Given the description of an element on the screen output the (x, y) to click on. 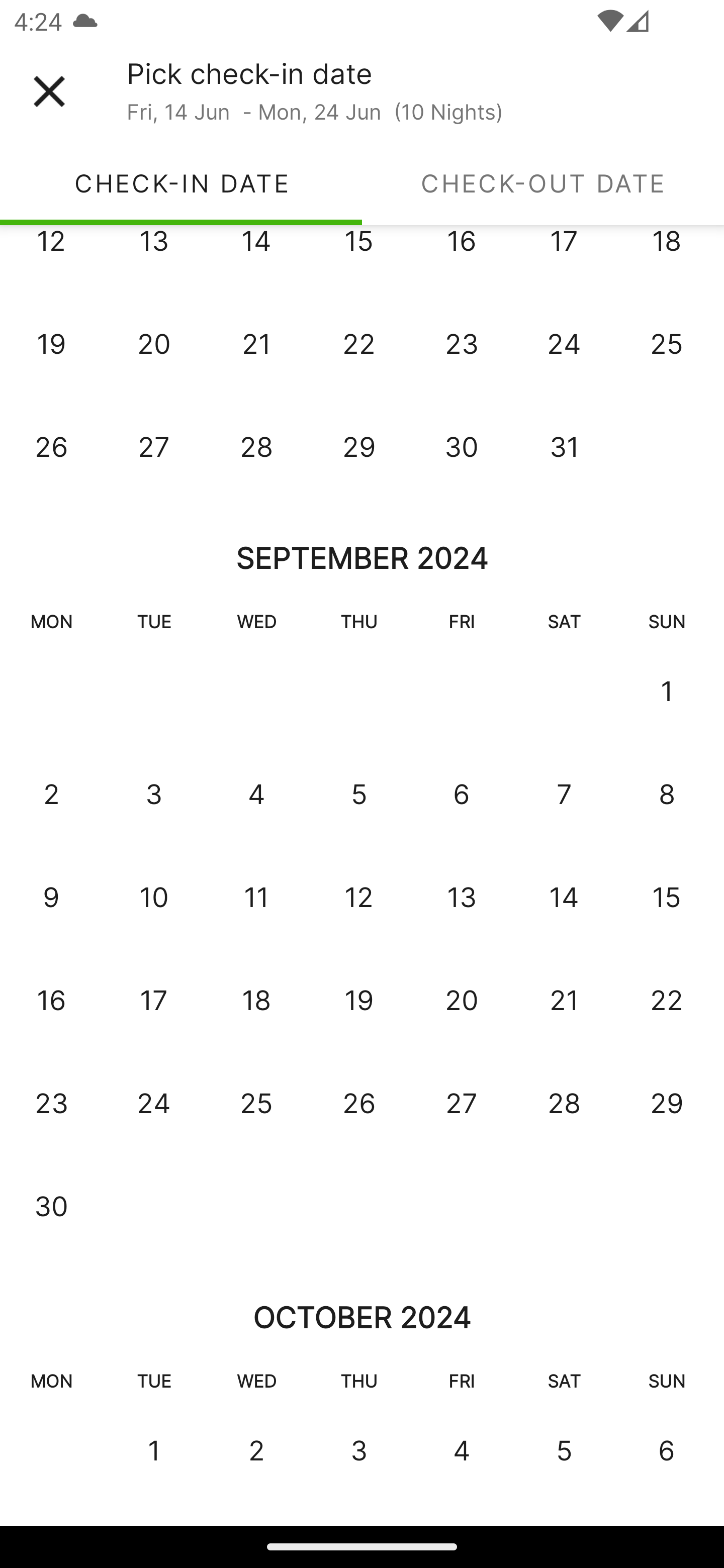
Check-out Date CHECK-OUT DATE (543, 183)
